Given the description of an element on the screen output the (x, y) to click on. 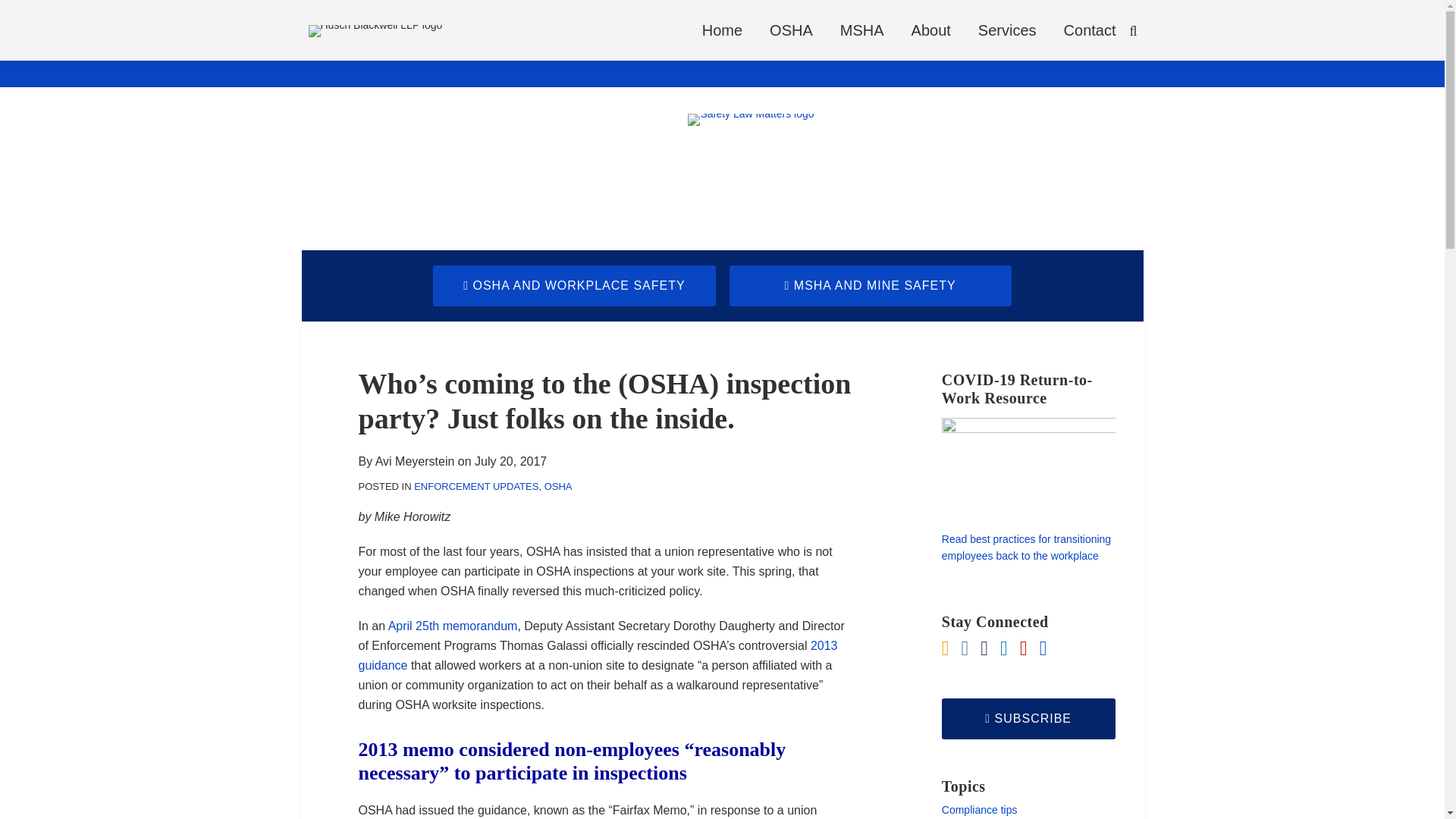
Home (721, 30)
ENFORCEMENT UPDATES (475, 486)
2013 guidance (597, 655)
Safety Law Matters (750, 152)
About (930, 30)
Services (1007, 30)
Contact (1090, 30)
OSHA (791, 30)
MSHA AND MINE SAFETY (870, 285)
